Given the description of an element on the screen output the (x, y) to click on. 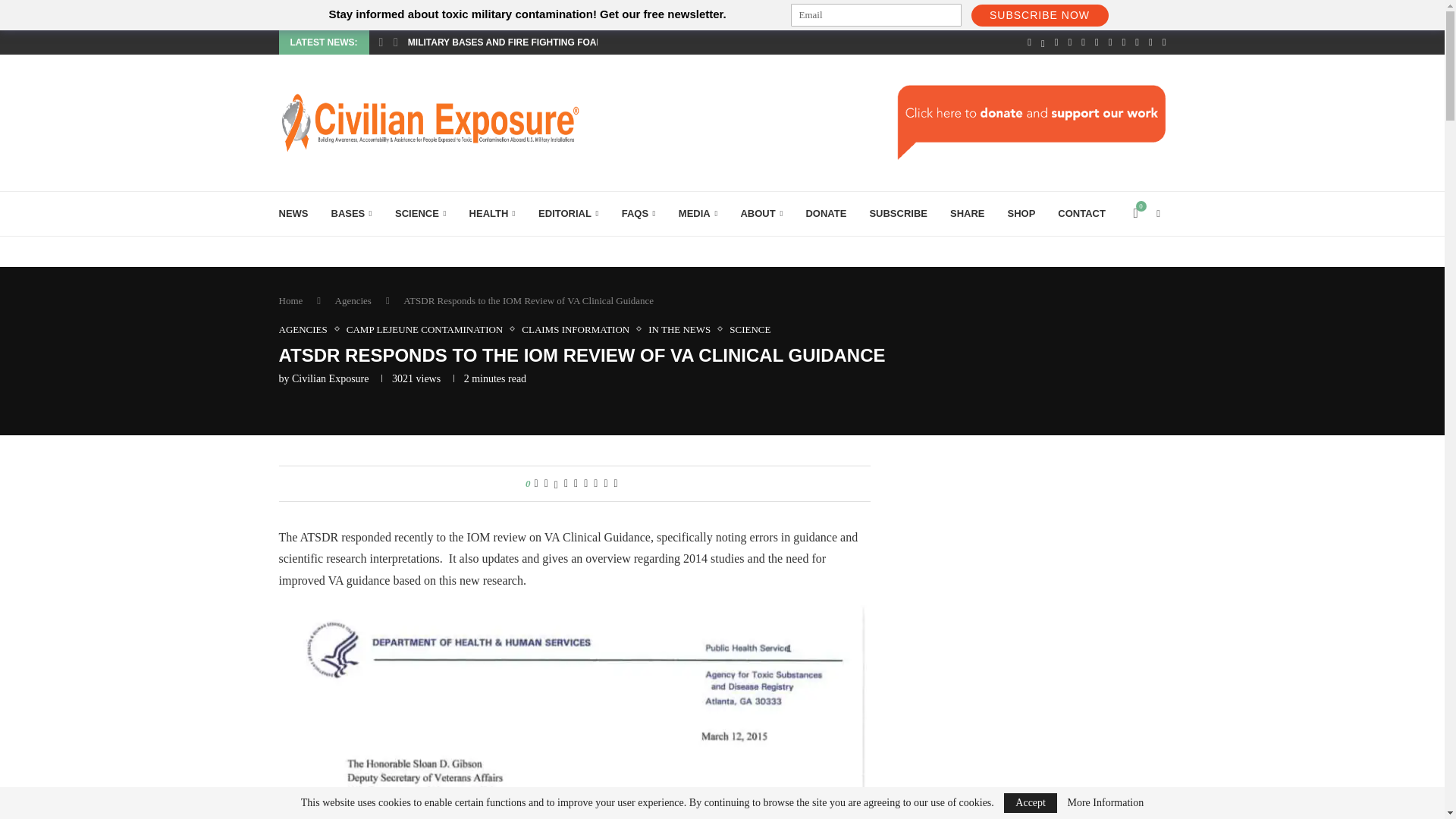
BASES (351, 213)
SCIENCE (420, 213)
MILITARY BASES AND FIRE FIGHTING FOAM (505, 42)
